Given the description of an element on the screen output the (x, y) to click on. 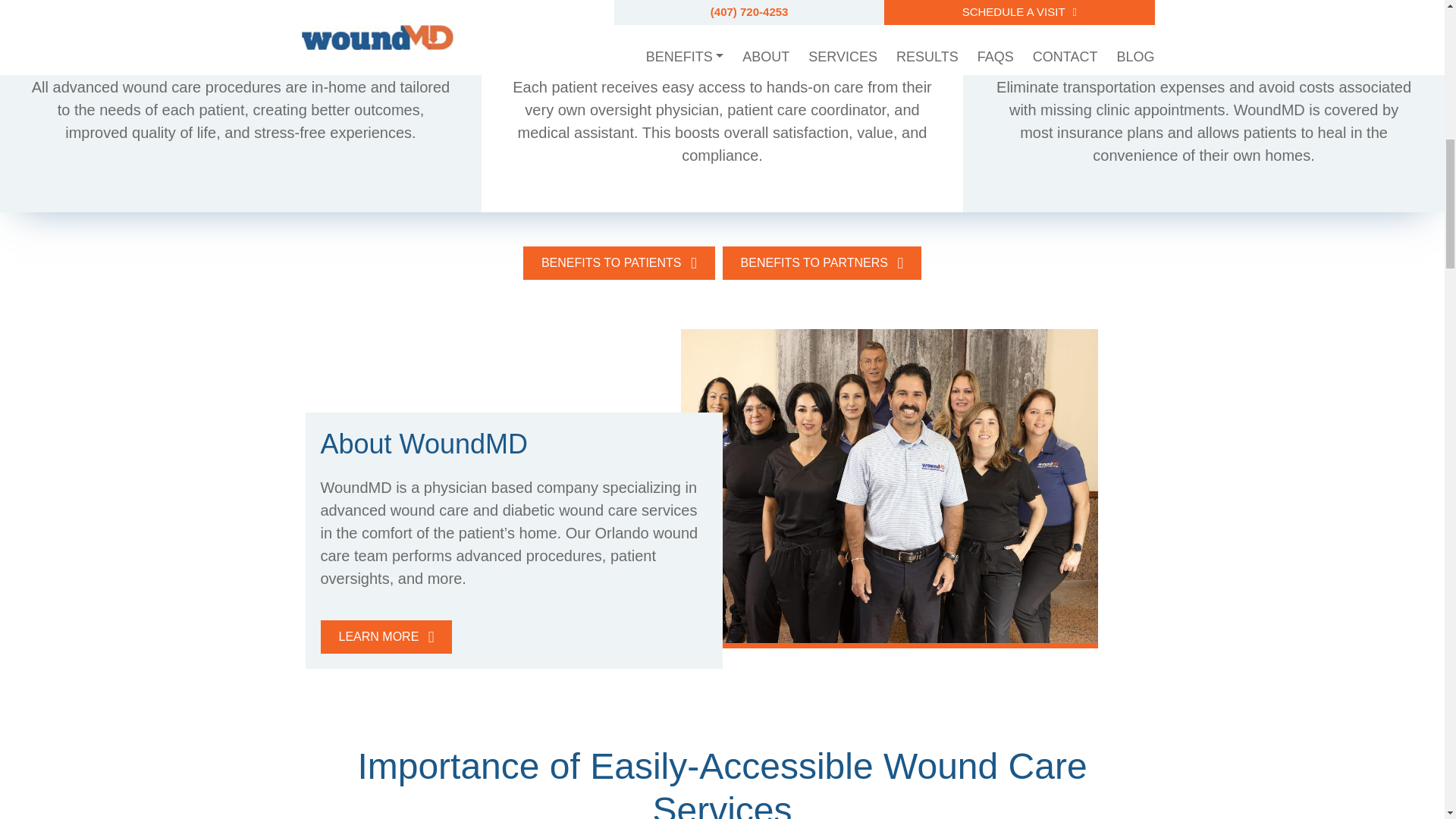
LEARN MORE (385, 636)
BENEFITS TO PATIENTS (618, 263)
BENEFITS TO PARTNERS (821, 263)
meet-the-team-1024x769 (889, 488)
